Given the description of an element on the screen output the (x, y) to click on. 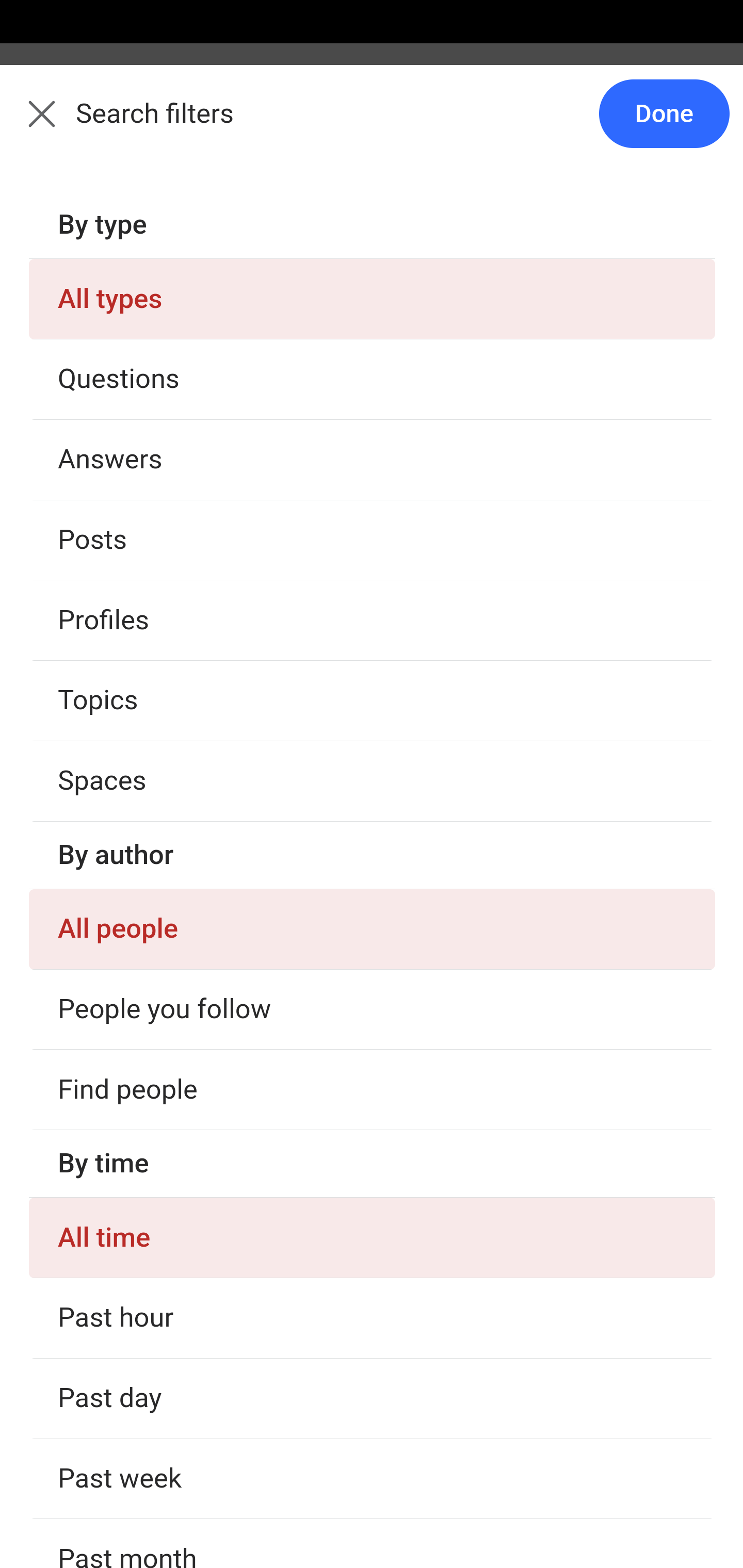
Back Search (371, 125)
Answer (125, 387)
Answer (125, 784)
145 answers 145  answers (90, 1163)
Answer (125, 1220)
Adult Are we all going to die from global warming? (372, 1315)
Answer (125, 1424)
